Given the description of an element on the screen output the (x, y) to click on. 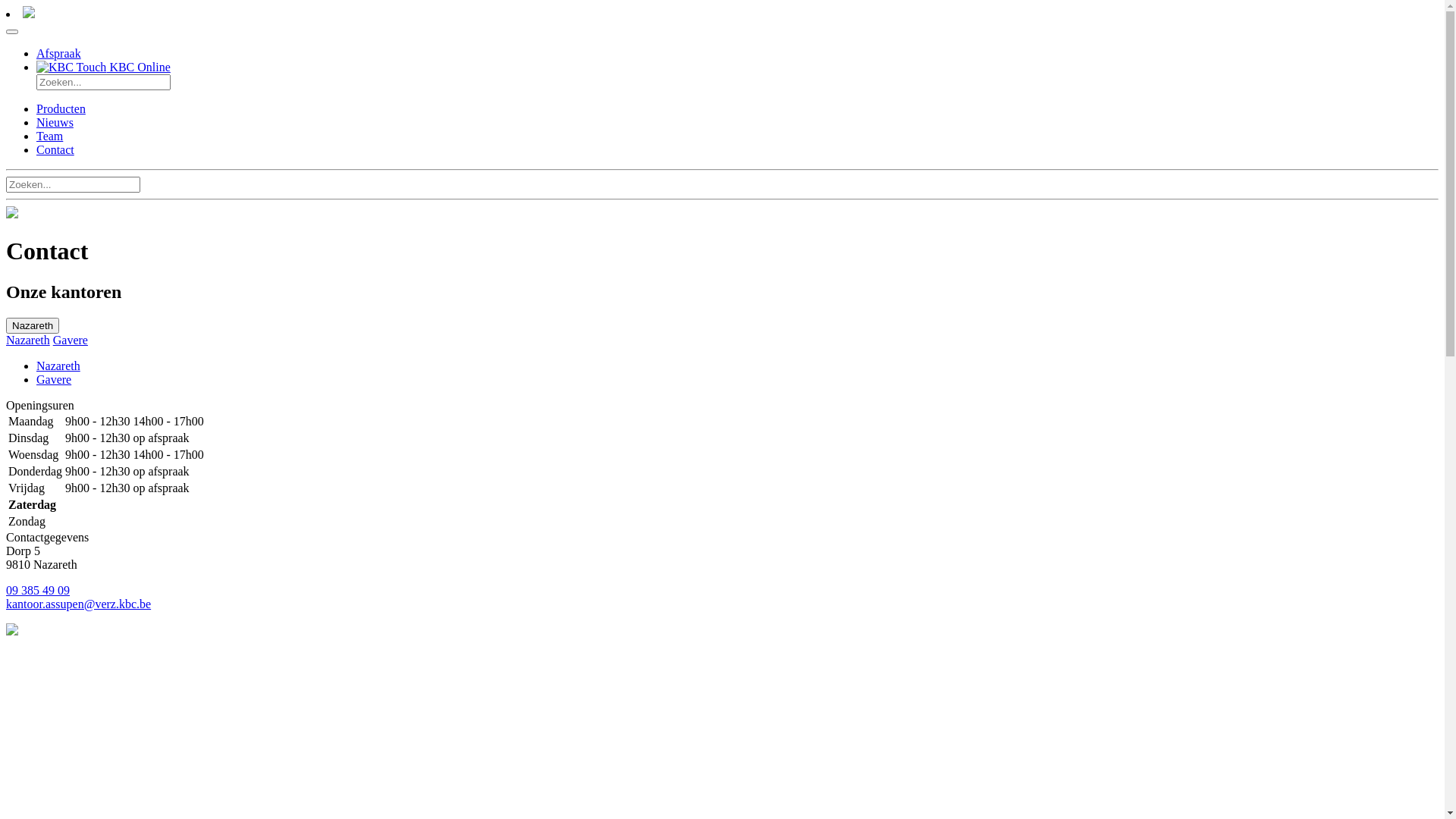
09 385 49 09 Element type: text (37, 589)
 KBC Online Element type: text (103, 66)
Nazareth Element type: text (28, 339)
Gavere Element type: text (70, 339)
Nazareth Element type: text (58, 365)
Producten Element type: text (60, 108)
Gavere Element type: text (53, 379)
Team Element type: text (49, 135)
kantoor.assupen@verz.kbc.be Element type: text (78, 603)
Nazareth Element type: text (32, 325)
Nieuws Element type: text (54, 122)
Contact Element type: text (55, 149)
Afspraak Element type: text (58, 53)
